Given the description of an element on the screen output the (x, y) to click on. 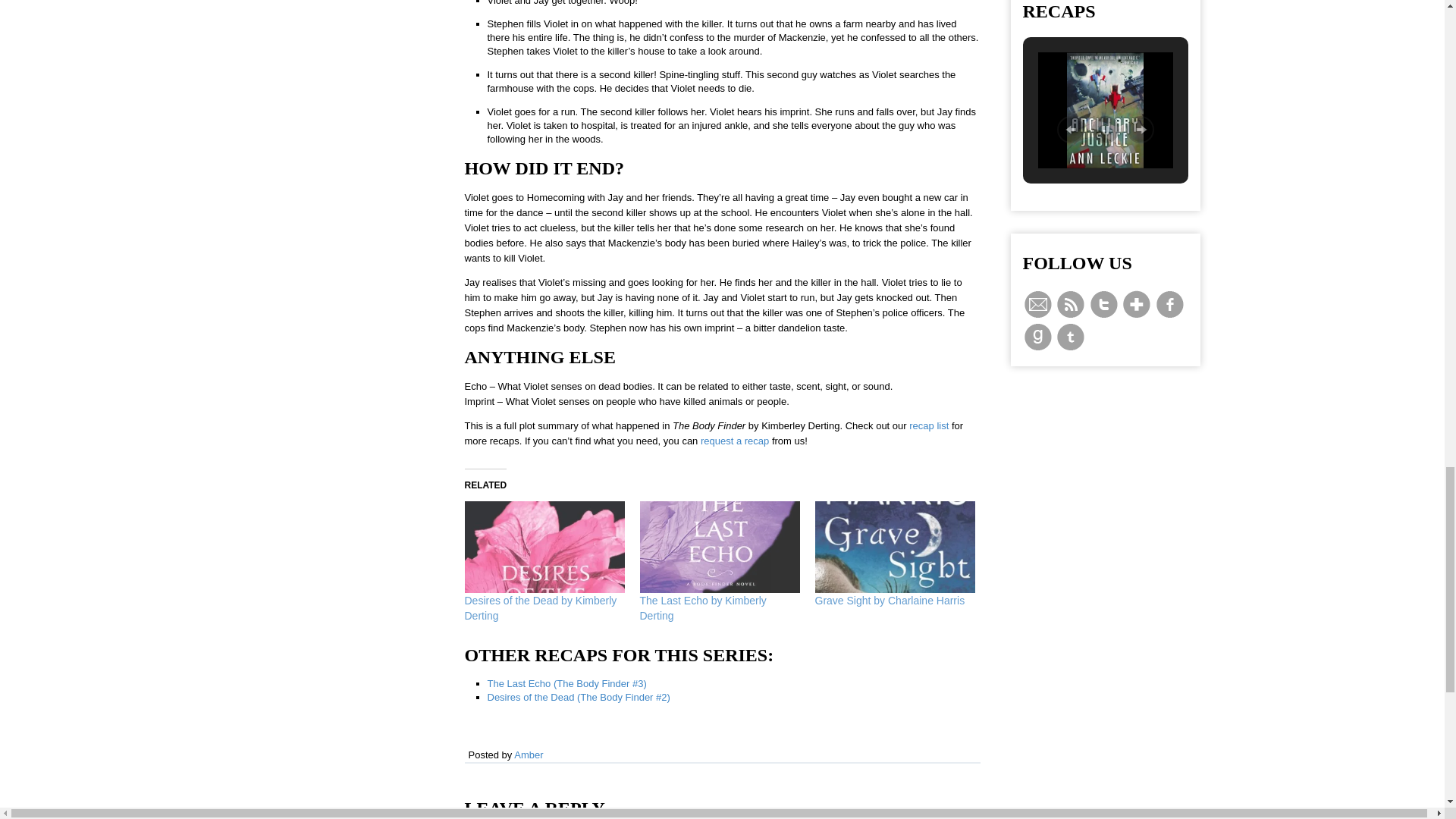
recap list (928, 425)
Amber (528, 754)
Grave Sight by Charlaine Harris (893, 546)
The Last Echo by Kimberly Derting (703, 607)
Grave Sight by Charlaine Harris (888, 600)
Desires of the Dead by Kimberly Derting (544, 546)
Desires of the Dead by Kimberly Derting (539, 607)
The Last Echo by Kimberly Derting (703, 607)
request a recap (734, 440)
Desires of the Dead by Kimberly Derting (539, 607)
Grave Sight by Charlaine Harris (888, 600)
The Last Echo by Kimberly Derting (719, 546)
